Given the description of an element on the screen output the (x, y) to click on. 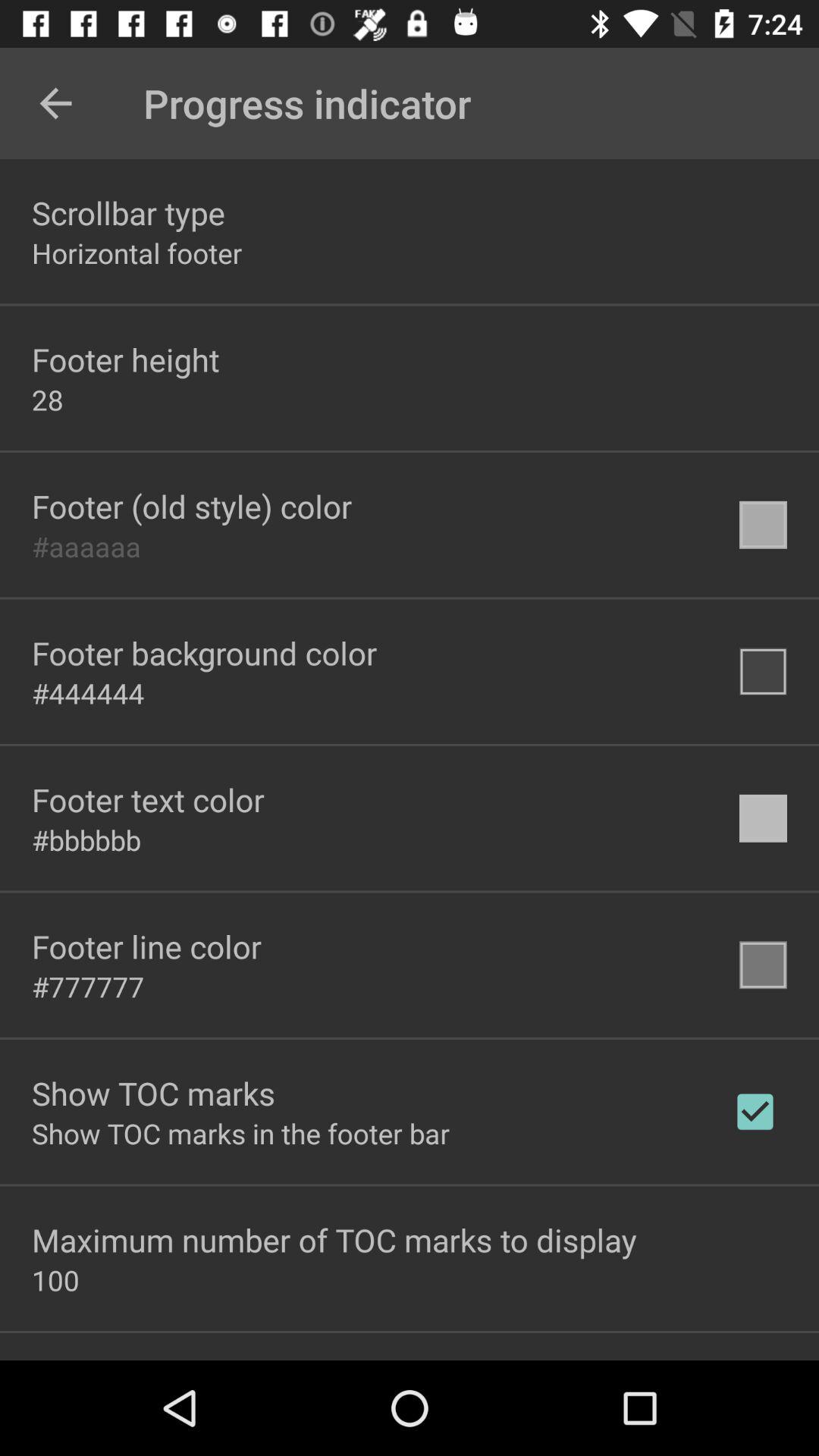
swipe to 28 icon (47, 399)
